Given the description of an element on the screen output the (x, y) to click on. 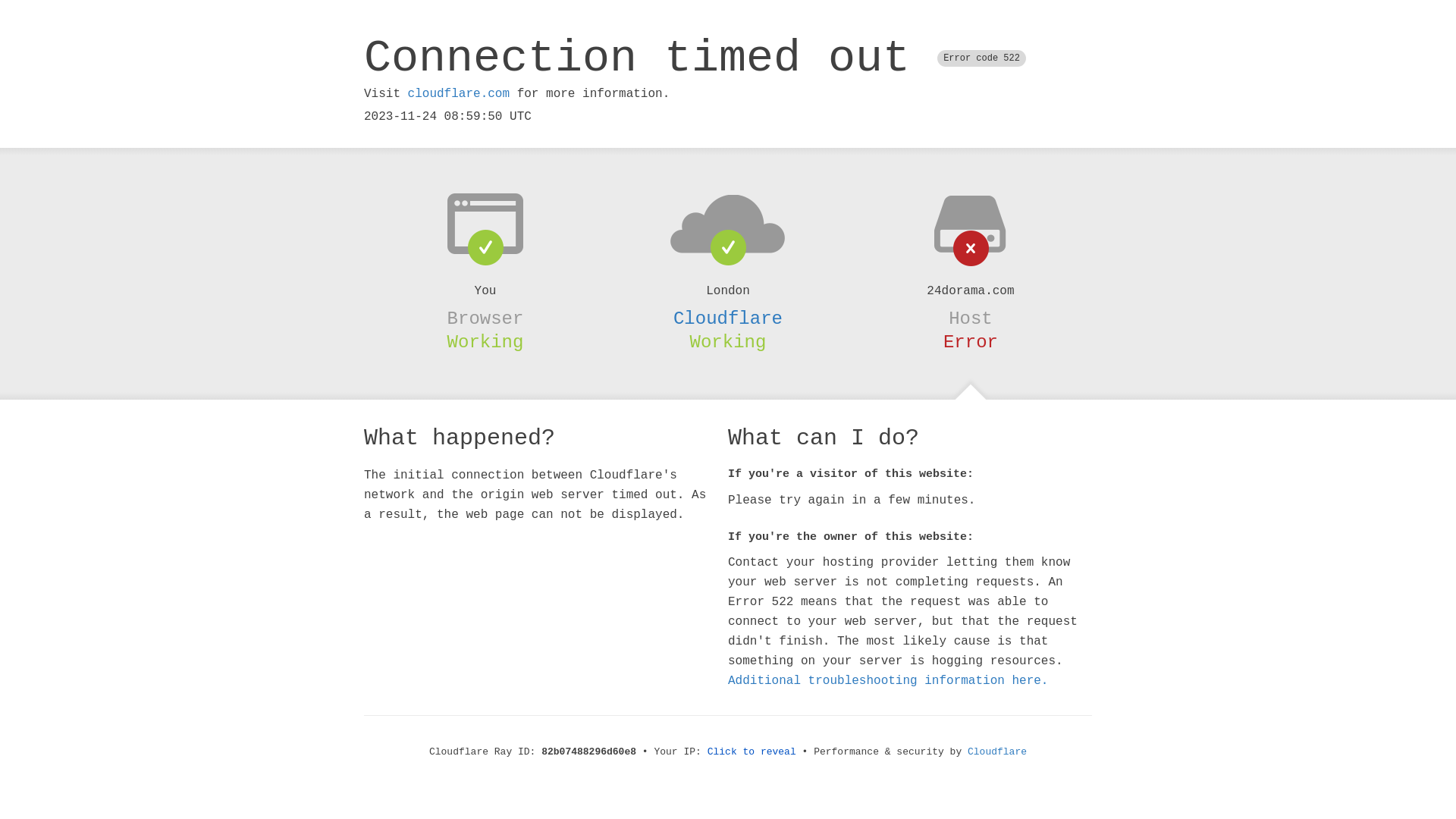
Cloudflare Element type: text (727, 318)
Cloudflare Element type: text (996, 751)
Additional troubleshooting information here. Element type: text (888, 680)
Click to reveal Element type: text (751, 751)
cloudflare.com Element type: text (458, 93)
